Given the description of an element on the screen output the (x, y) to click on. 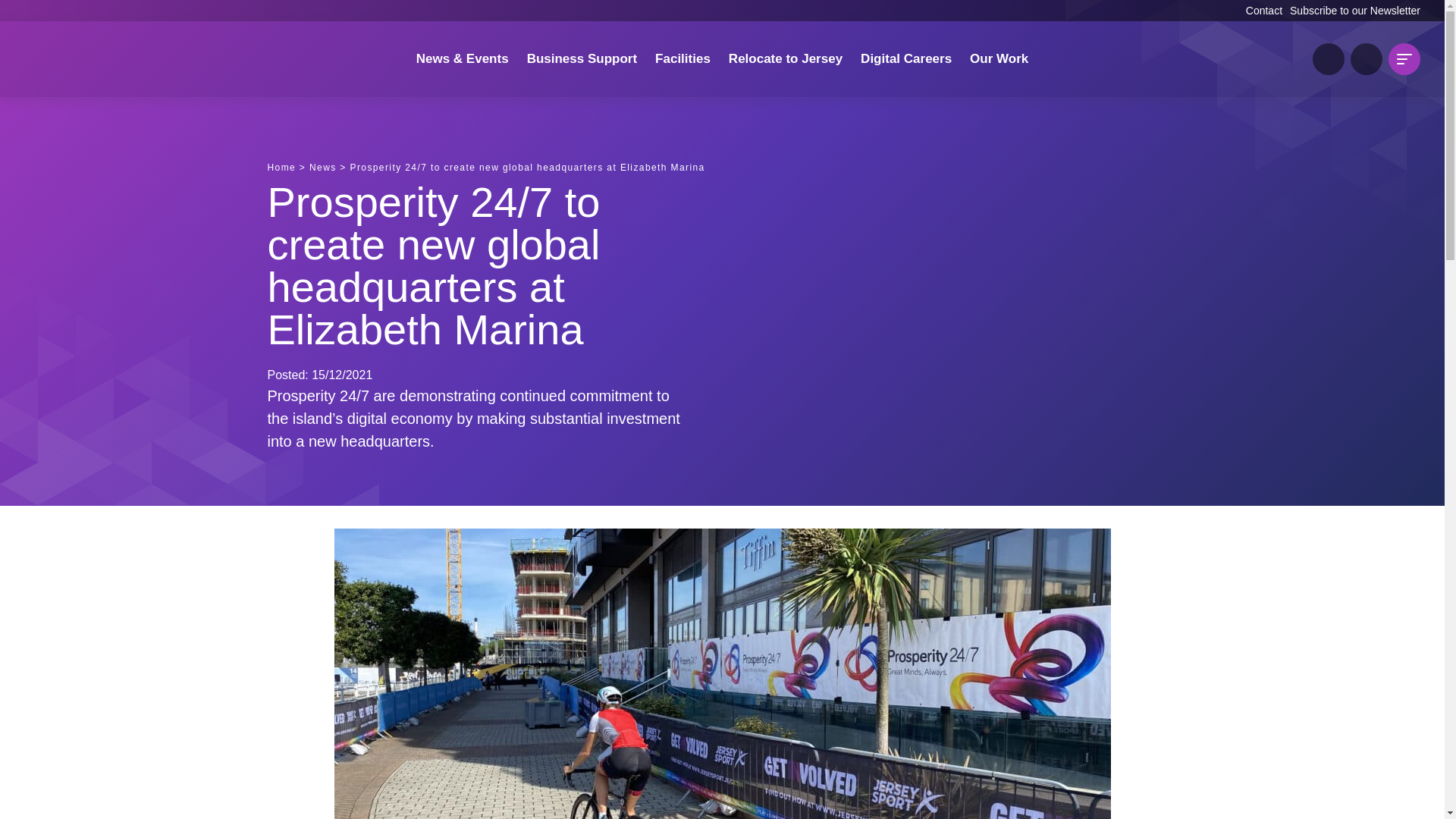
Relocate to Jersey (785, 59)
Subscribe to our Newsletter (1355, 10)
Contact (1264, 10)
Facilities (682, 59)
Business Support (582, 59)
